Given the description of an element on the screen output the (x, y) to click on. 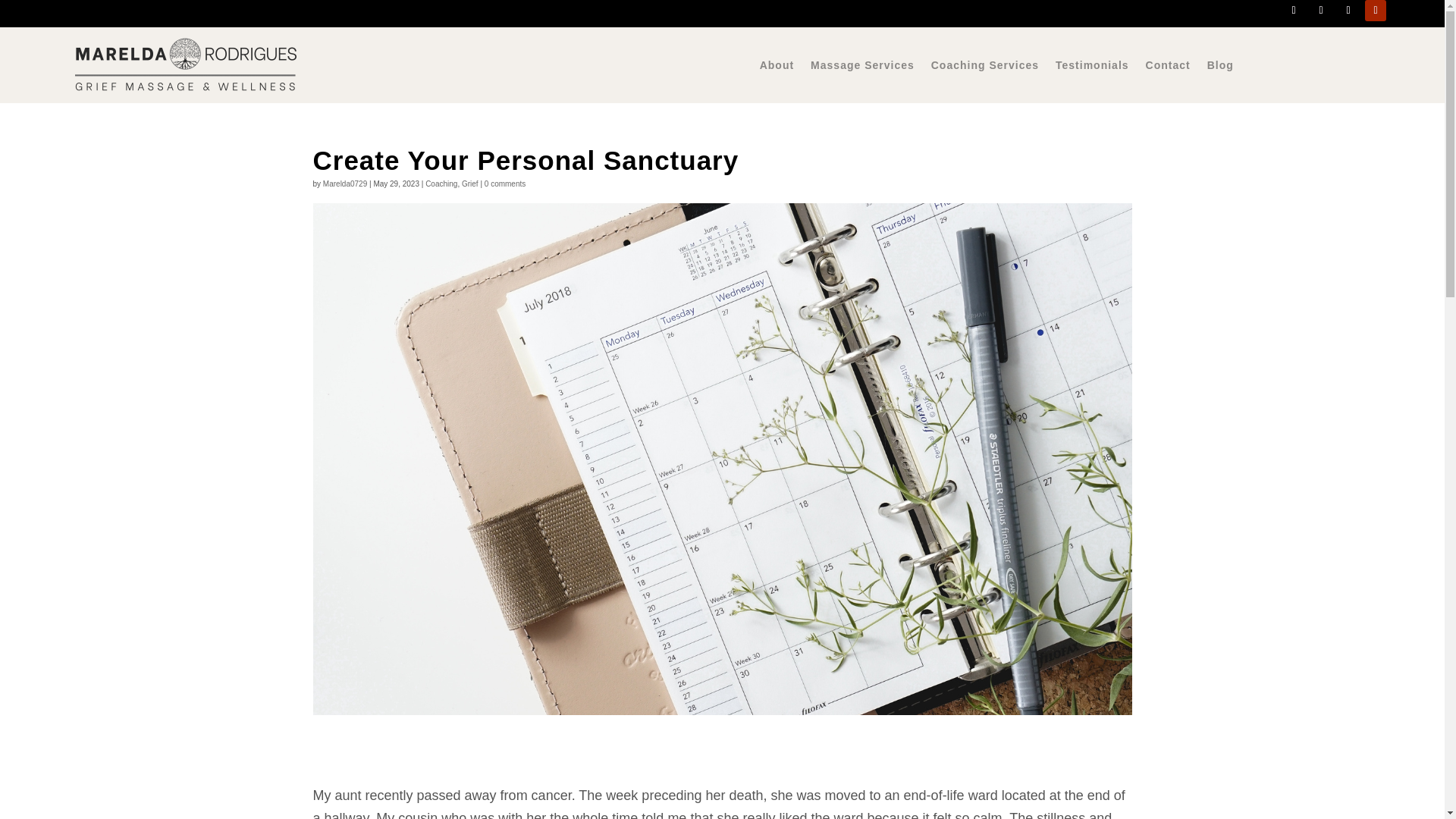
Blog (1220, 67)
Follow on Instagram (1321, 10)
Massage Services (862, 67)
Contact (1168, 67)
Follow on Facebook (1293, 10)
0 comments (504, 183)
Coaching (441, 183)
Grief (470, 183)
Coaching Services (985, 67)
About (776, 67)
